Given the description of an element on the screen output the (x, y) to click on. 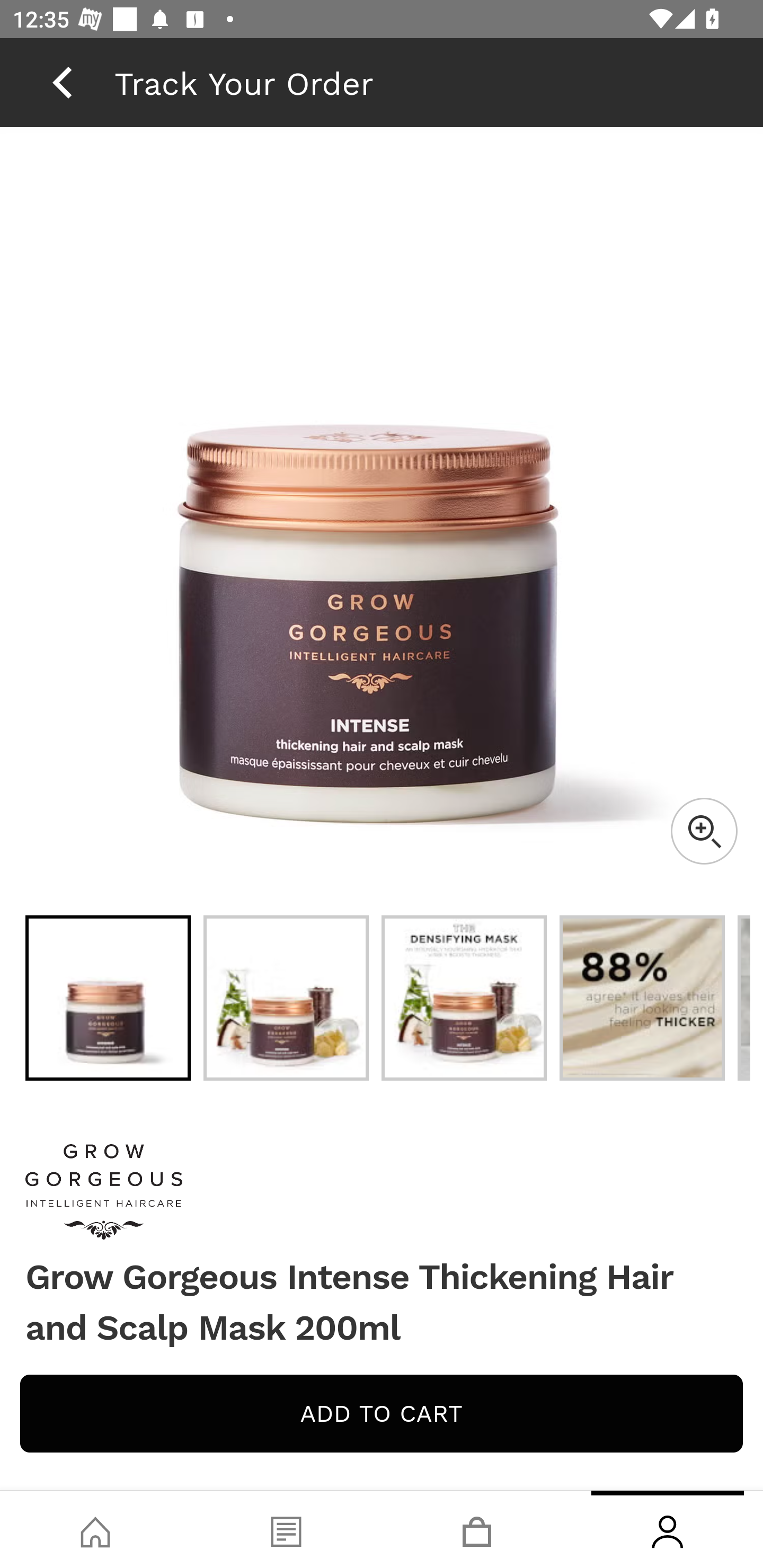
back (61, 82)
Zoom (703, 830)
Grow Gorgeous (381, 1192)
Add to cart (381, 1413)
Shop, tab, 1 of 4 (95, 1529)
Blog, tab, 2 of 4 (285, 1529)
Basket, tab, 3 of 4 (476, 1529)
Account, tab, 4 of 4 (667, 1529)
